Given the description of an element on the screen output the (x, y) to click on. 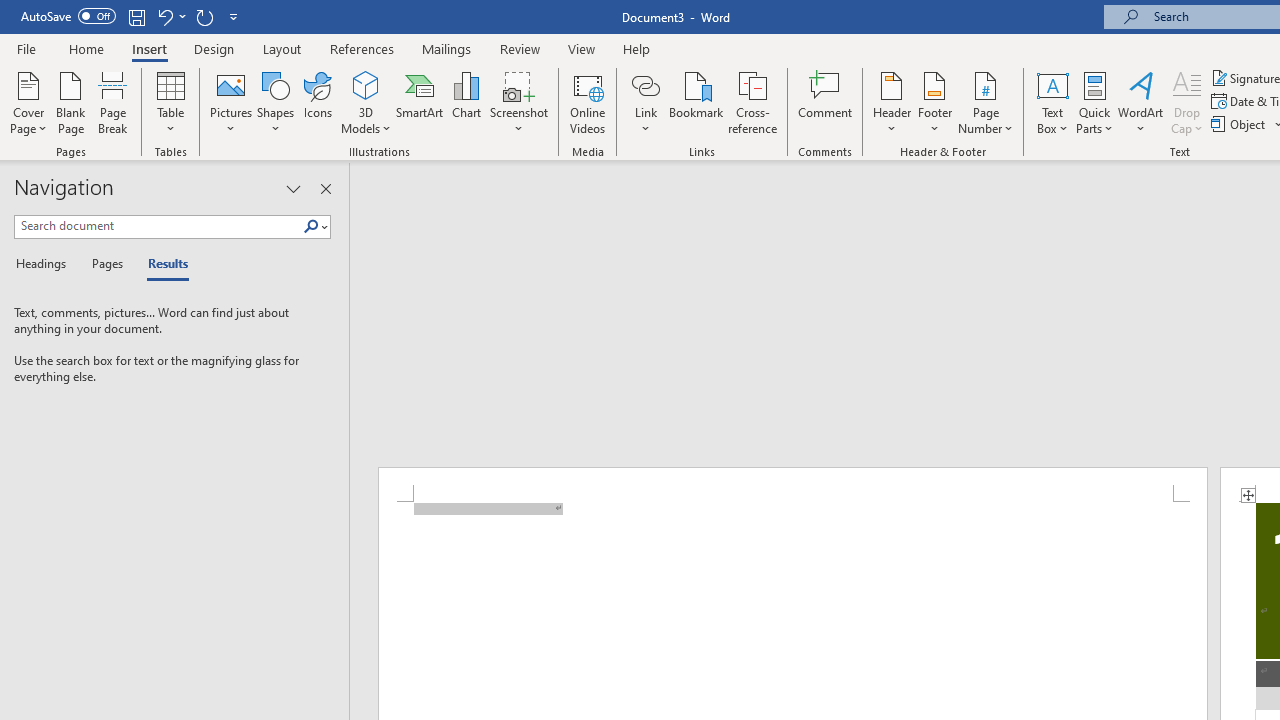
Header (891, 102)
Mailings (447, 48)
Link (645, 102)
Search (311, 227)
Online Videos... (588, 102)
Design (214, 48)
Repeat Doc Close (204, 15)
Shapes (275, 102)
Task Pane Options (293, 188)
Text Box (1052, 102)
Comment (825, 102)
Search (315, 227)
Quick Access Toolbar (131, 16)
